Given the description of an element on the screen output the (x, y) to click on. 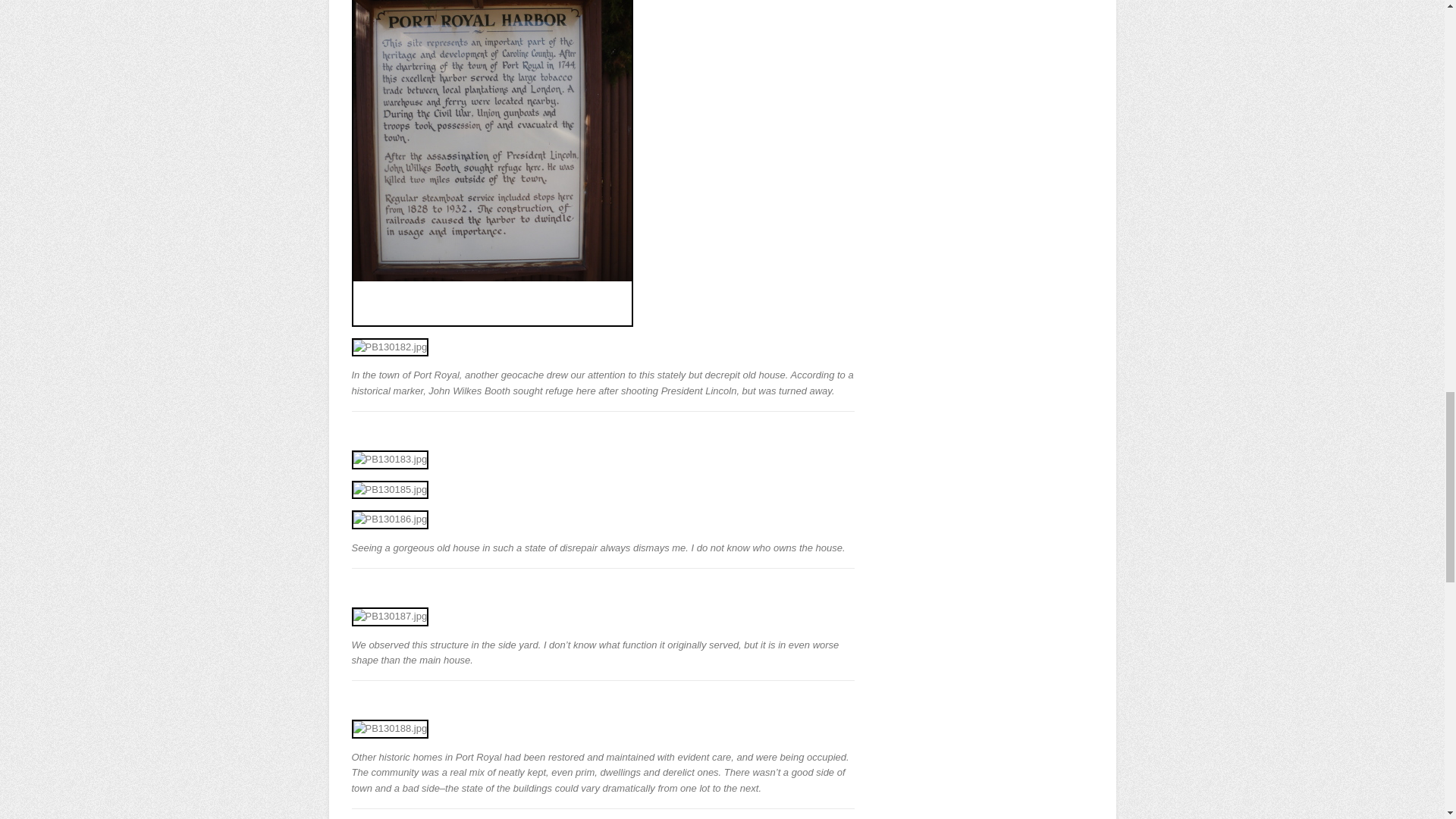
PB130187.jpg (390, 616)
PB130185.jpg (390, 489)
PB130183.jpg (390, 459)
PB130182.jpg (390, 347)
PB130188.jpg (390, 728)
PB130186.jpg (390, 519)
